Given the description of an element on the screen output the (x, y) to click on. 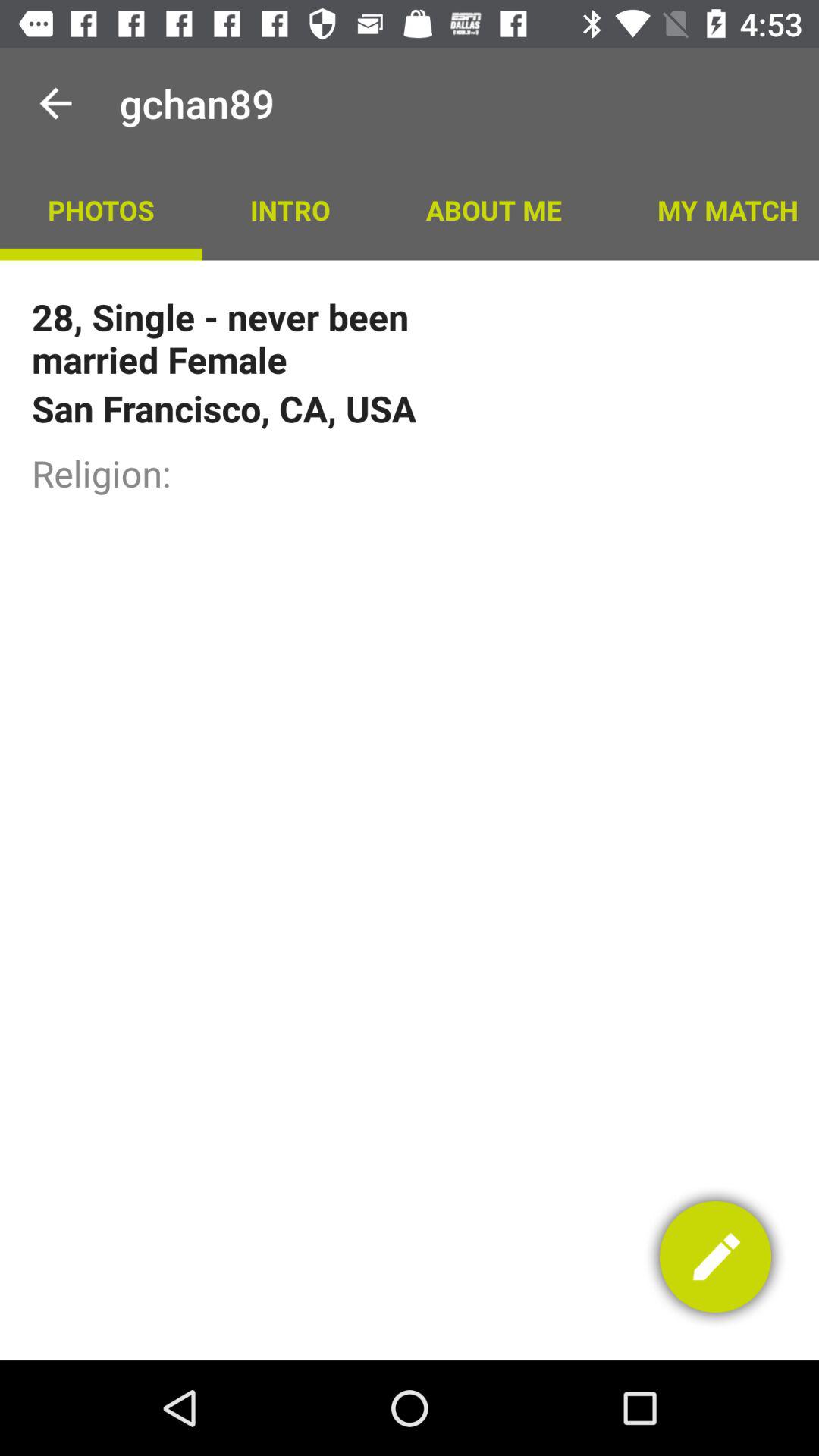
open the app next to about me (714, 209)
